Given the description of an element on the screen output the (x, y) to click on. 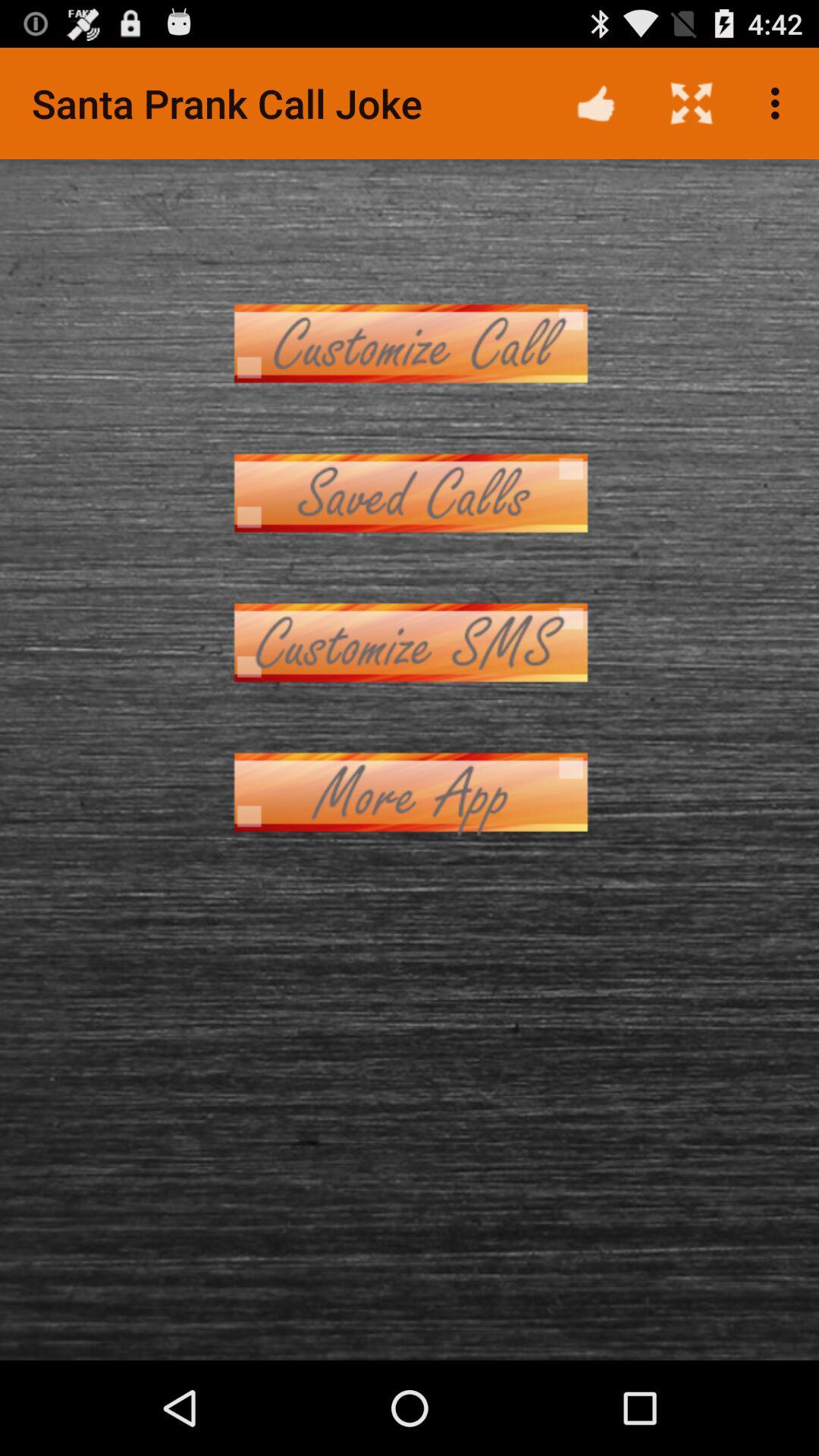
open item at the top (409, 343)
